Given the description of an element on the screen output the (x, y) to click on. 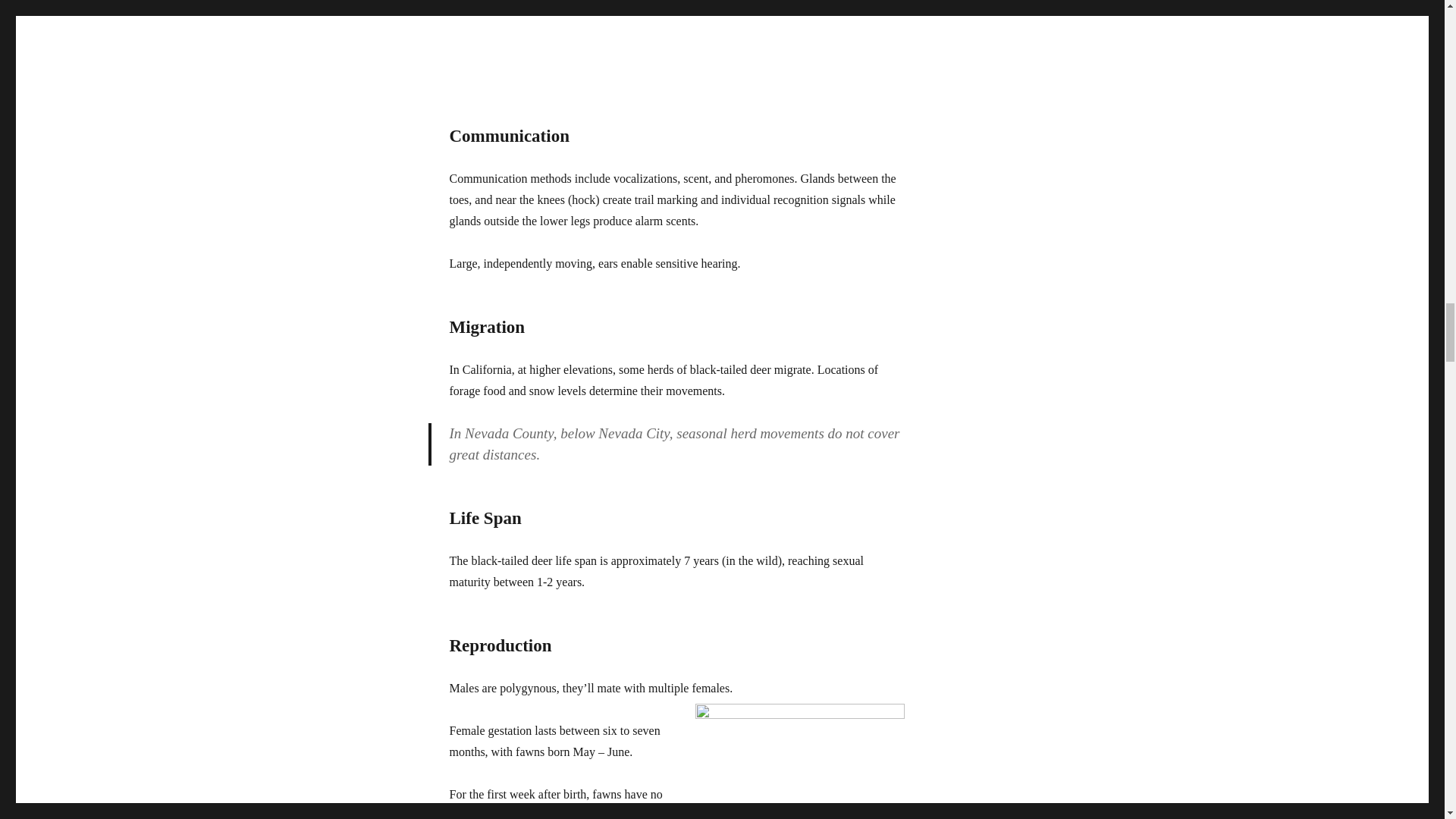
Black-tailed Deer Bucks Sparring (676, 20)
